Given the description of an element on the screen output the (x, y) to click on. 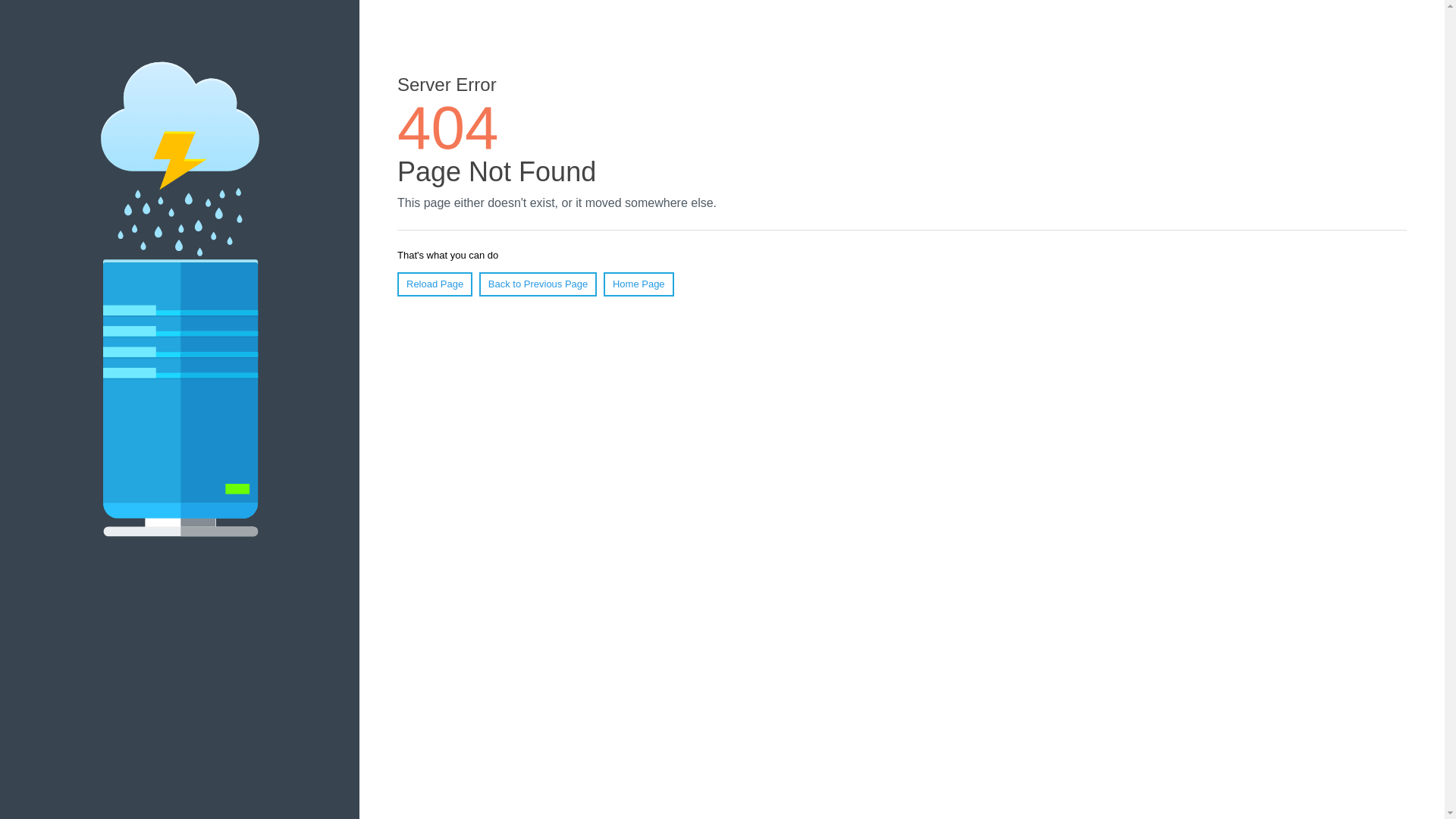
Home Page Element type: text (638, 284)
Back to Previous Page Element type: text (538, 284)
Reload Page Element type: text (434, 284)
